Given the description of an element on the screen output the (x, y) to click on. 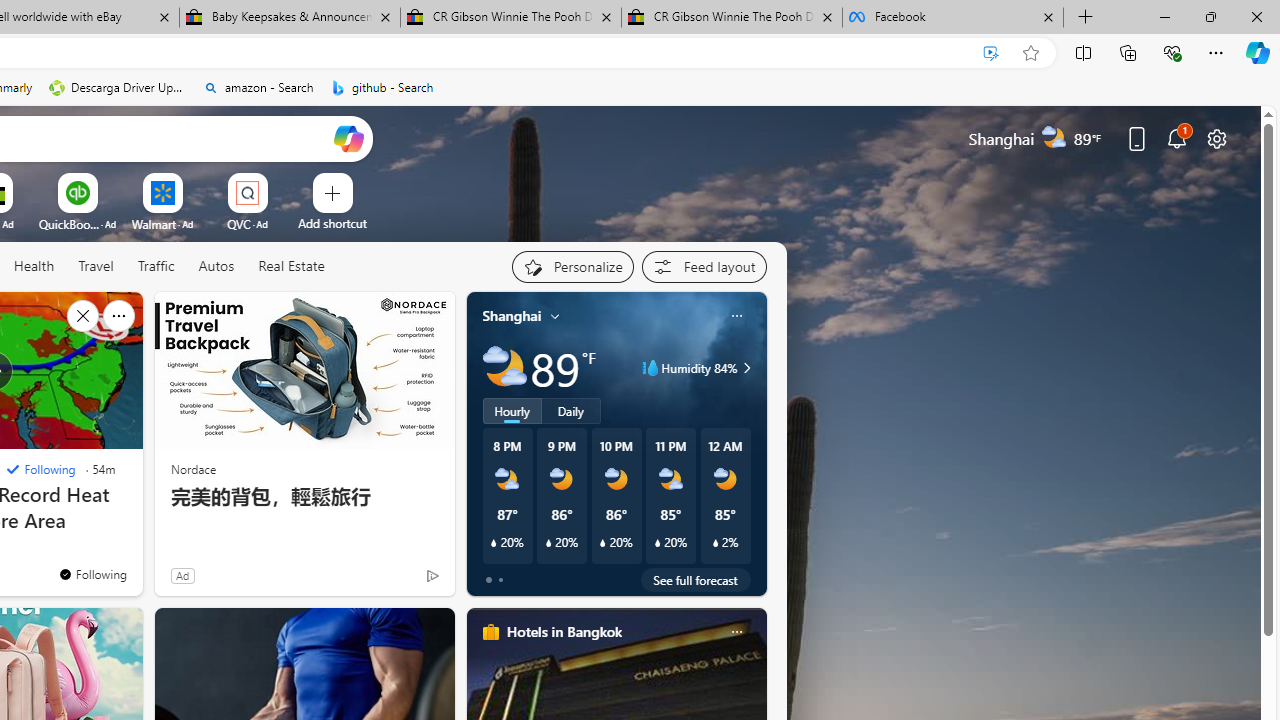
More Options (279, 179)
github - Search (381, 88)
Feed settings (703, 266)
